Given the description of an element on the screen output the (x, y) to click on. 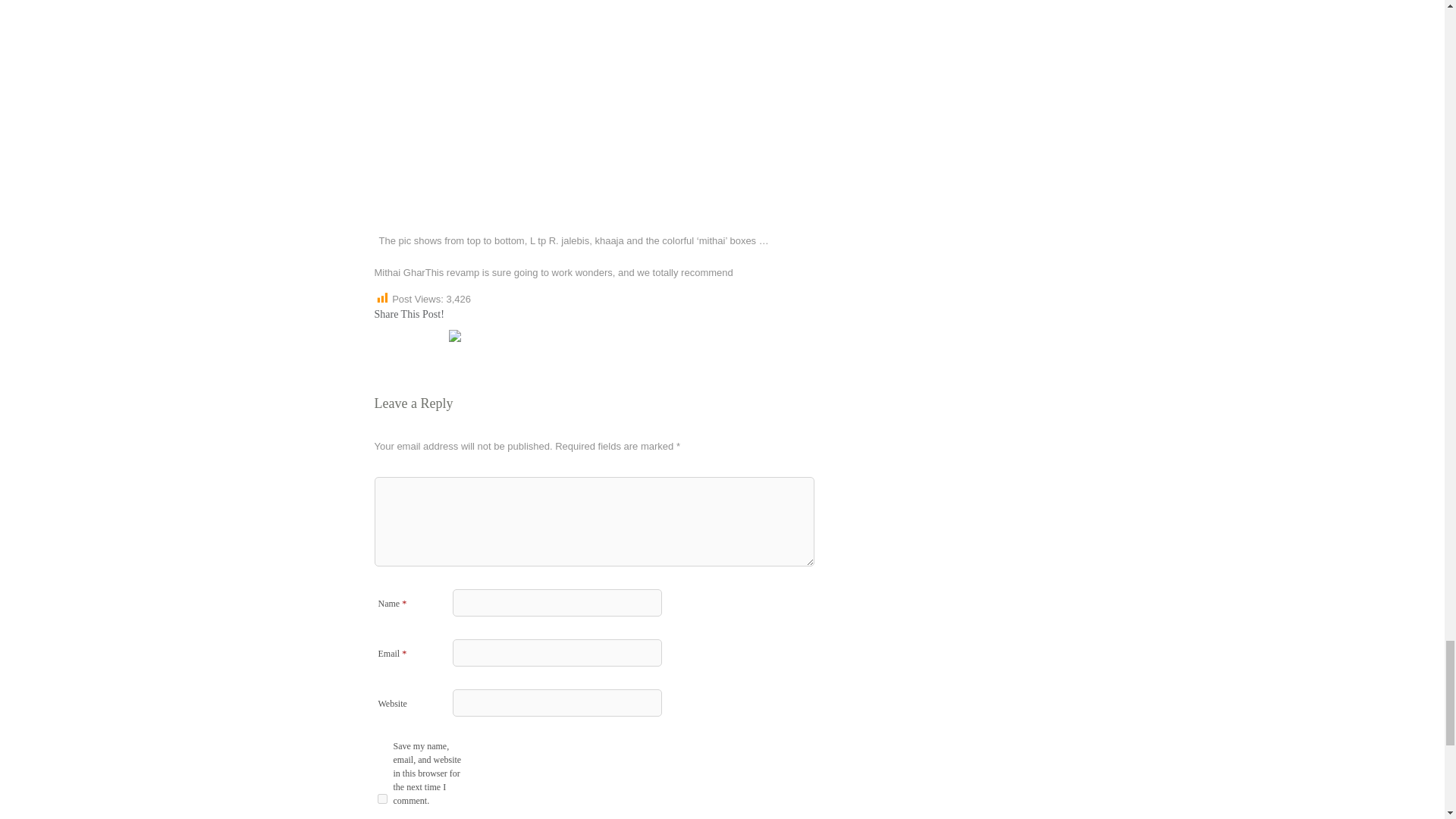
Old Indian, New Deori (398, 336)
yes (382, 798)
Print (435, 336)
Old Indian, New Deori (380, 336)
